Given the description of an element on the screen output the (x, y) to click on. 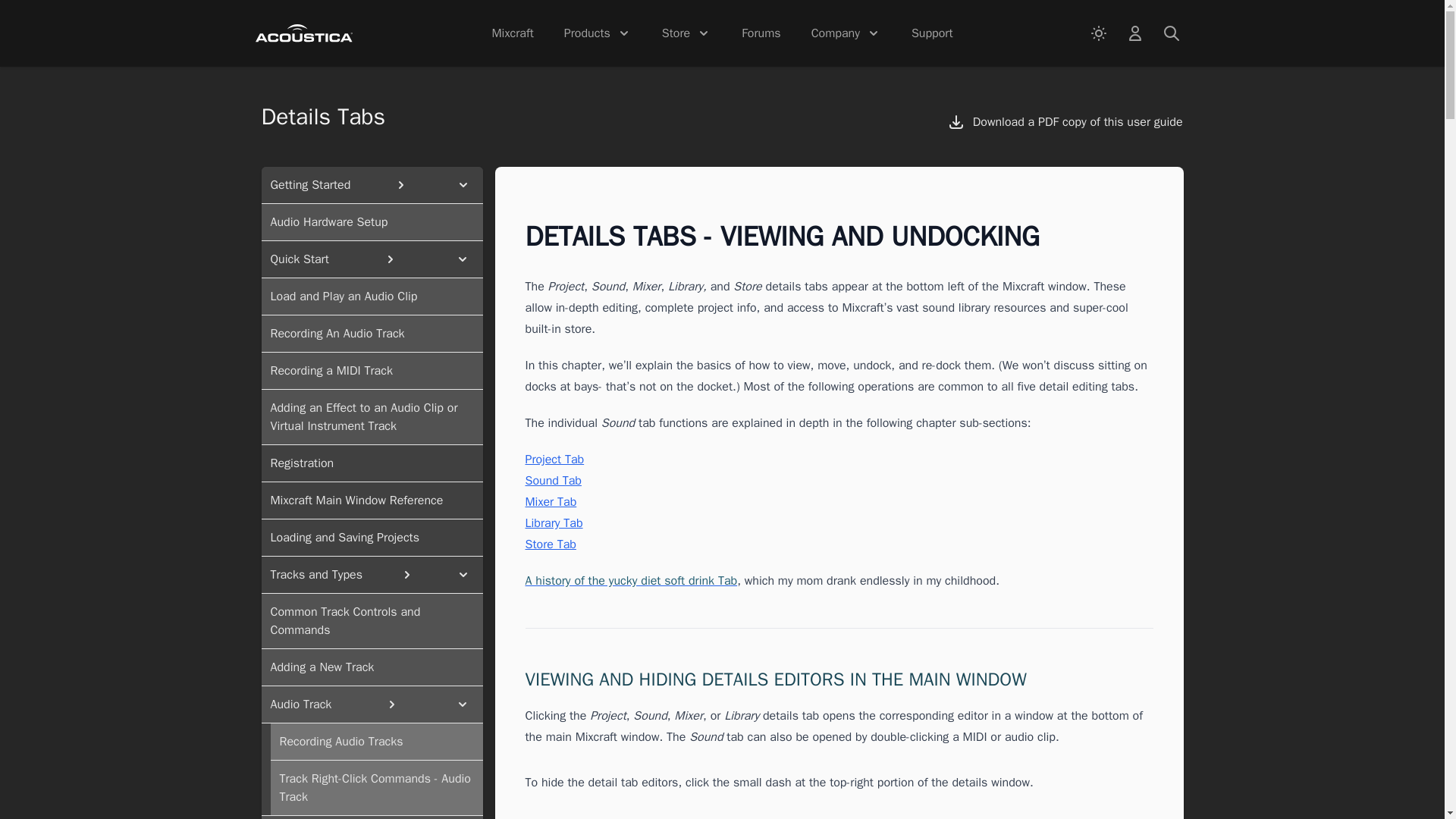
Forums (760, 33)
Store (1134, 33)
Search (1171, 33)
Products (597, 33)
Acoustica (303, 32)
Color Mode (1098, 33)
Company (845, 33)
Support (932, 33)
Store (686, 33)
Mixcraft (511, 33)
